Given the description of an element on the screen output the (x, y) to click on. 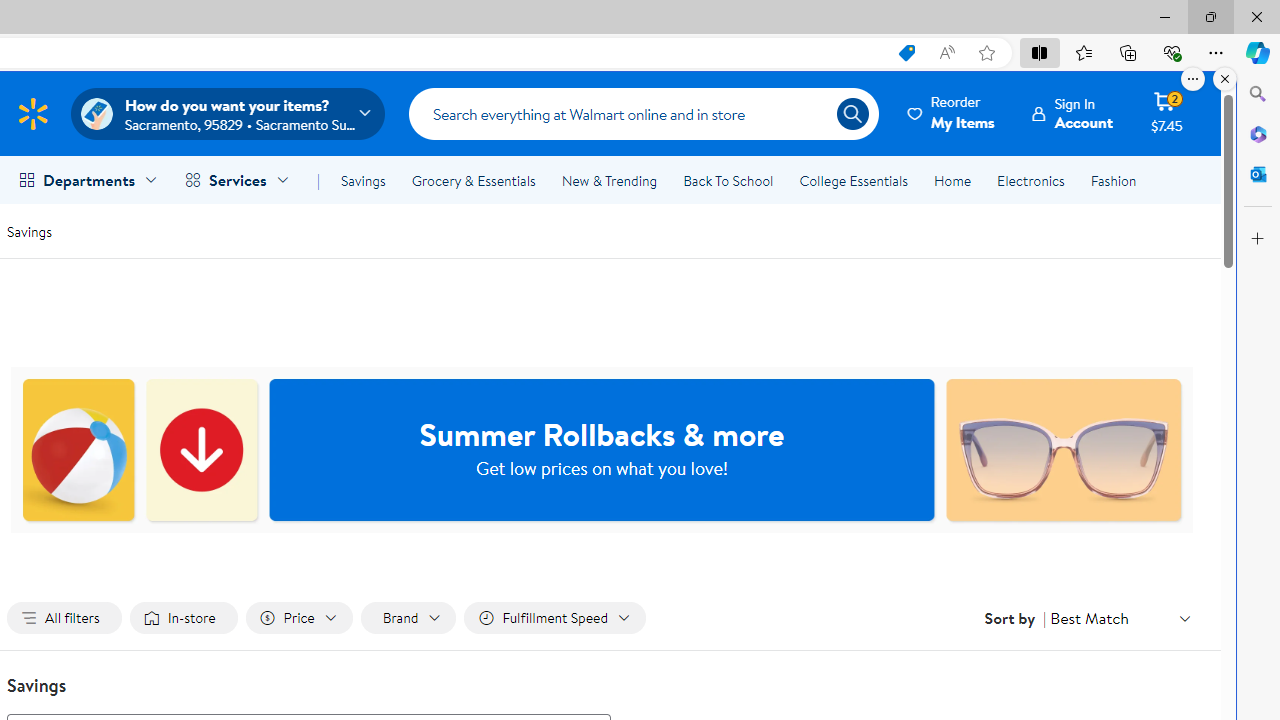
New & Trending (608, 180)
Electronics (1030, 180)
Sign InAccount (1072, 113)
Close split screen. (1225, 79)
Savings (363, 180)
Close Search pane (1258, 94)
Back To School (728, 180)
